Given the description of an element on the screen output the (x, y) to click on. 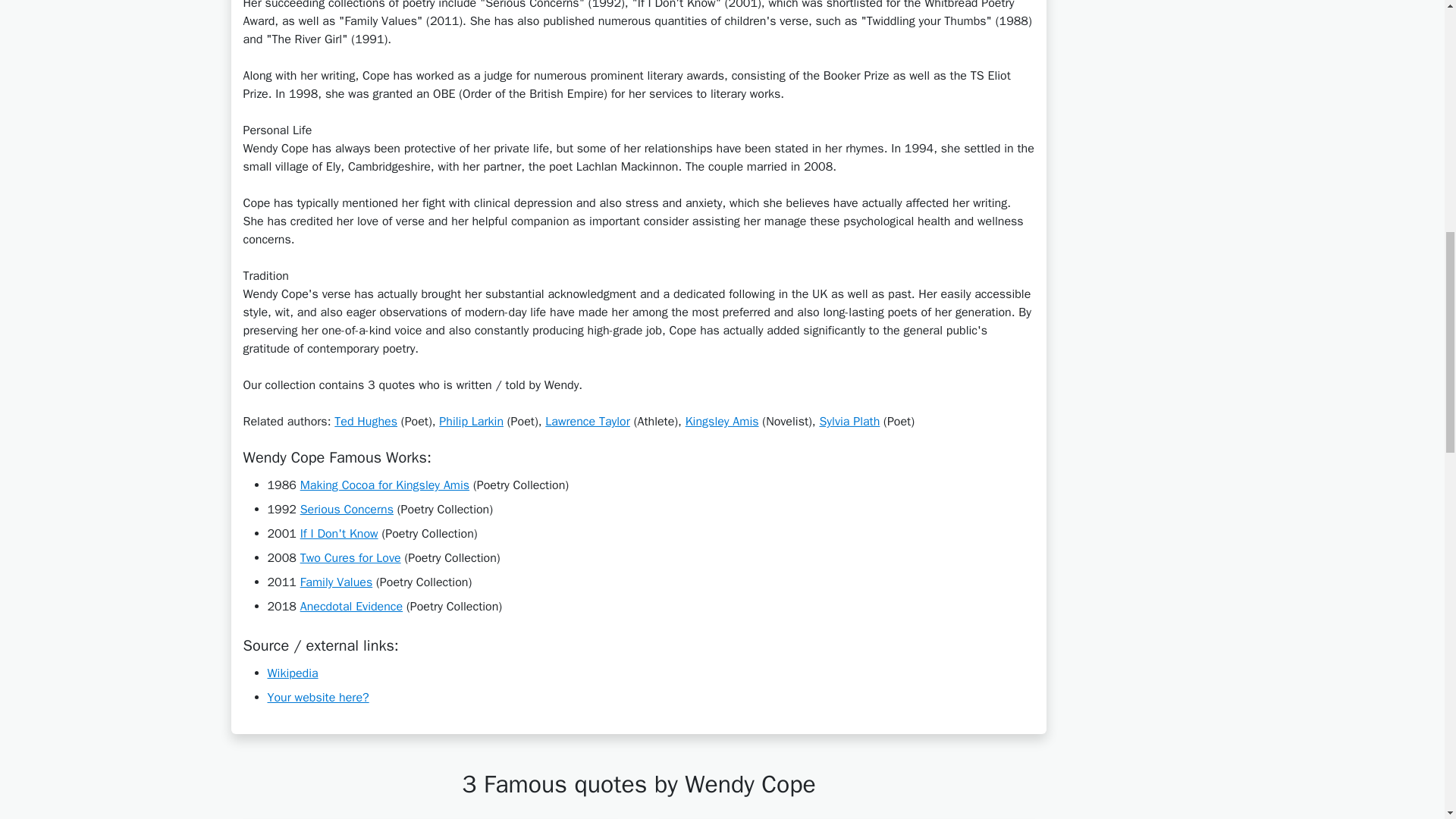
Philip Larkin (471, 421)
Ted Hughes (365, 421)
Lawrence Taylor (587, 421)
If I Don't Know (338, 533)
Family Values (335, 581)
Two Cures for Love (350, 557)
Kingsley Amis (721, 421)
Serious Concerns (346, 509)
Wikipedia (291, 672)
Your website here? (317, 697)
